Given the description of an element on the screen output the (x, y) to click on. 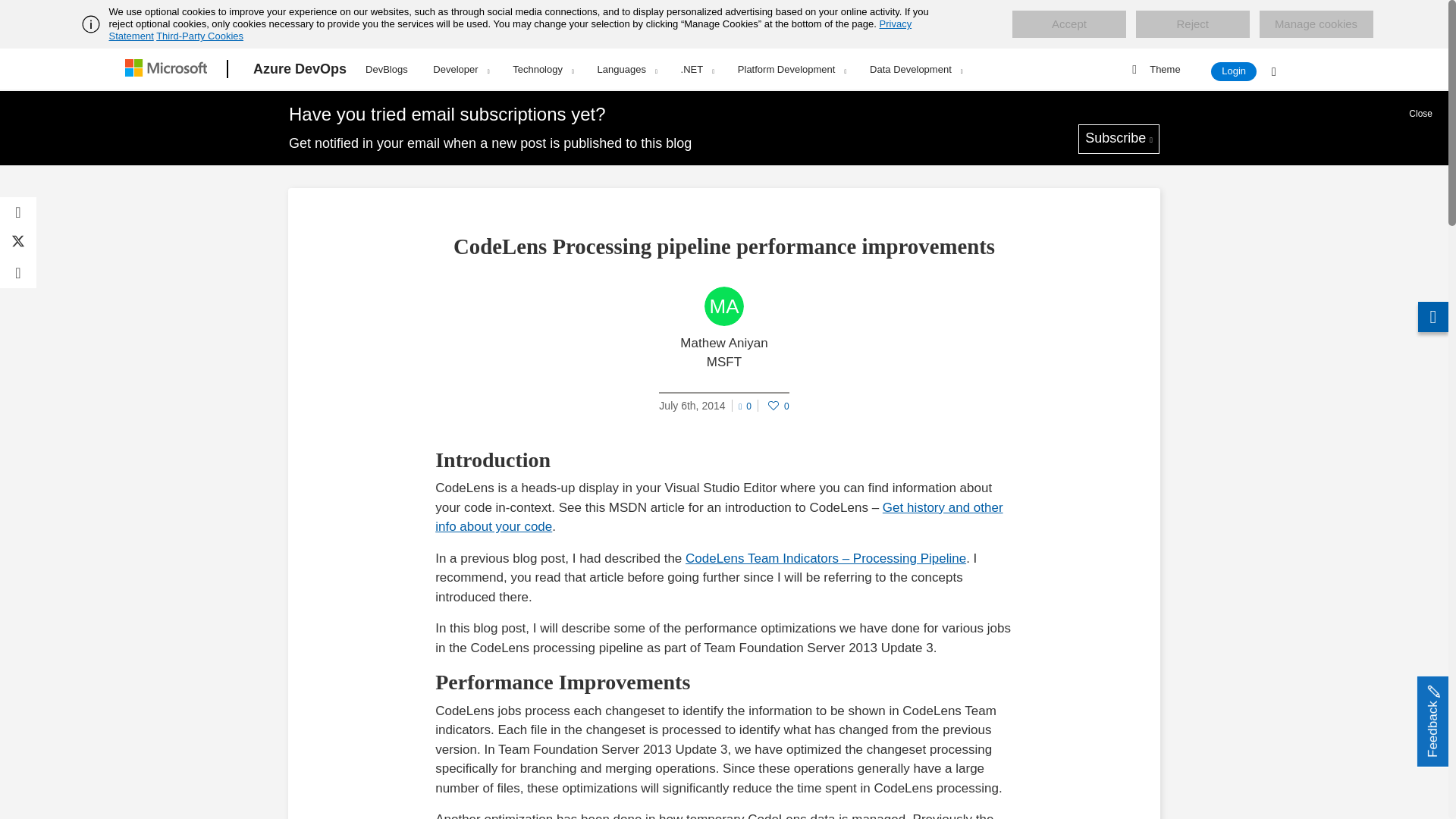
Accept (1068, 23)
Third-Party Cookies (199, 35)
Manage cookies (1316, 23)
Reject (1192, 23)
Azure DevOps (299, 69)
DevBlogs (386, 67)
Developer (460, 69)
Share on Twitter (18, 242)
Languages (627, 69)
Share on LinkedIn (18, 272)
Share on Facebook (18, 212)
Privacy Statement (510, 29)
Technology (542, 69)
